Given the description of an element on the screen output the (x, y) to click on. 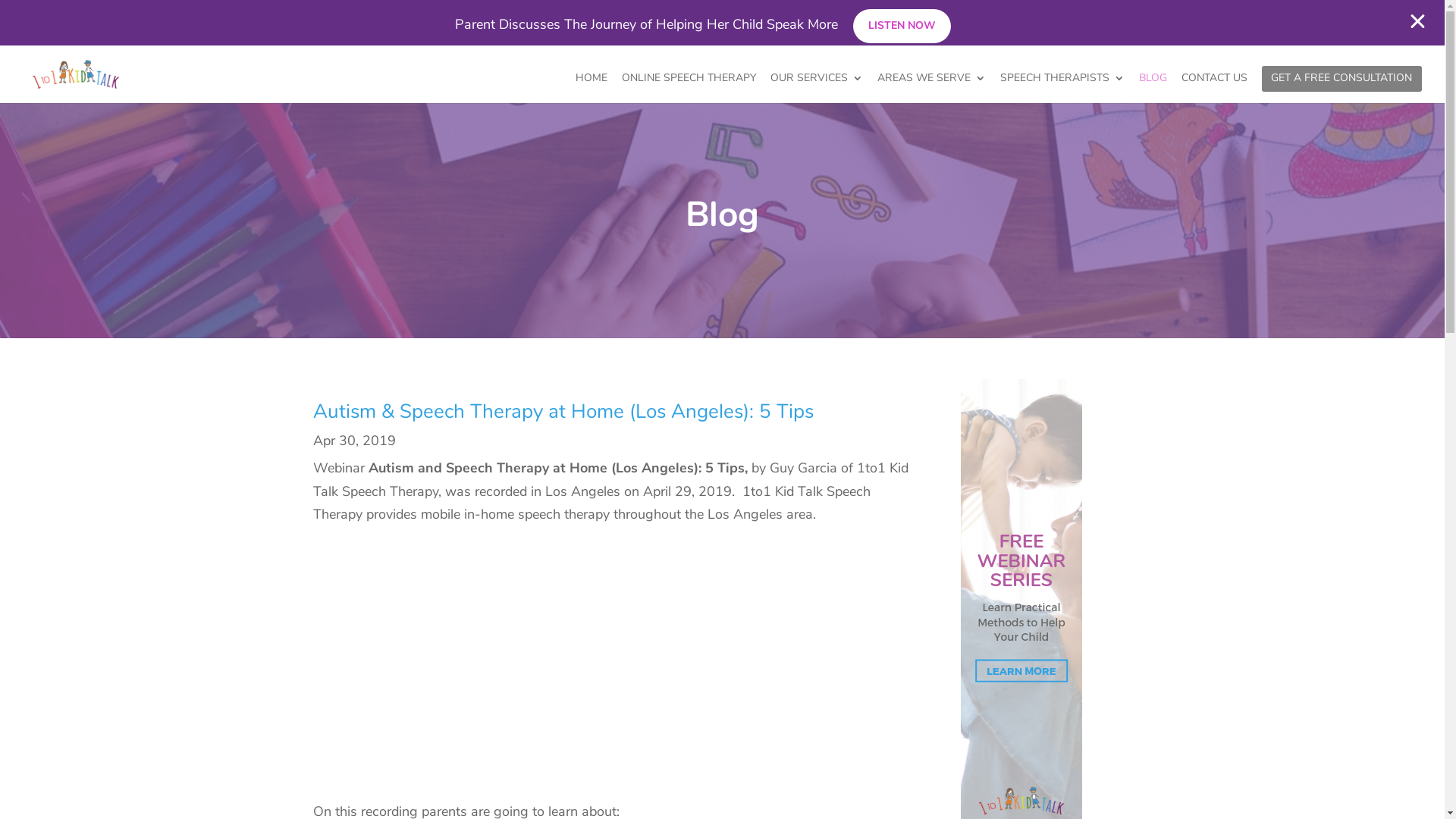
Autism & Speech Therapy at Home (Los Angeles): 5 Tips Element type: text (562, 411)
AREAS WE SERVE Element type: text (931, 88)
ONLINE SPEECH THERAPY Element type: text (688, 88)
LISTEN NOW Element type: text (901, 26)
CONTACT US Element type: text (1214, 88)
BLOG Element type: text (1153, 88)
GET A FREE CONSULTATION Element type: text (1341, 88)
HOME Element type: text (591, 88)
OUR SERVICES Element type: text (816, 88)
SPEECH THERAPISTS Element type: text (1062, 88)
